Given the description of an element on the screen output the (x, y) to click on. 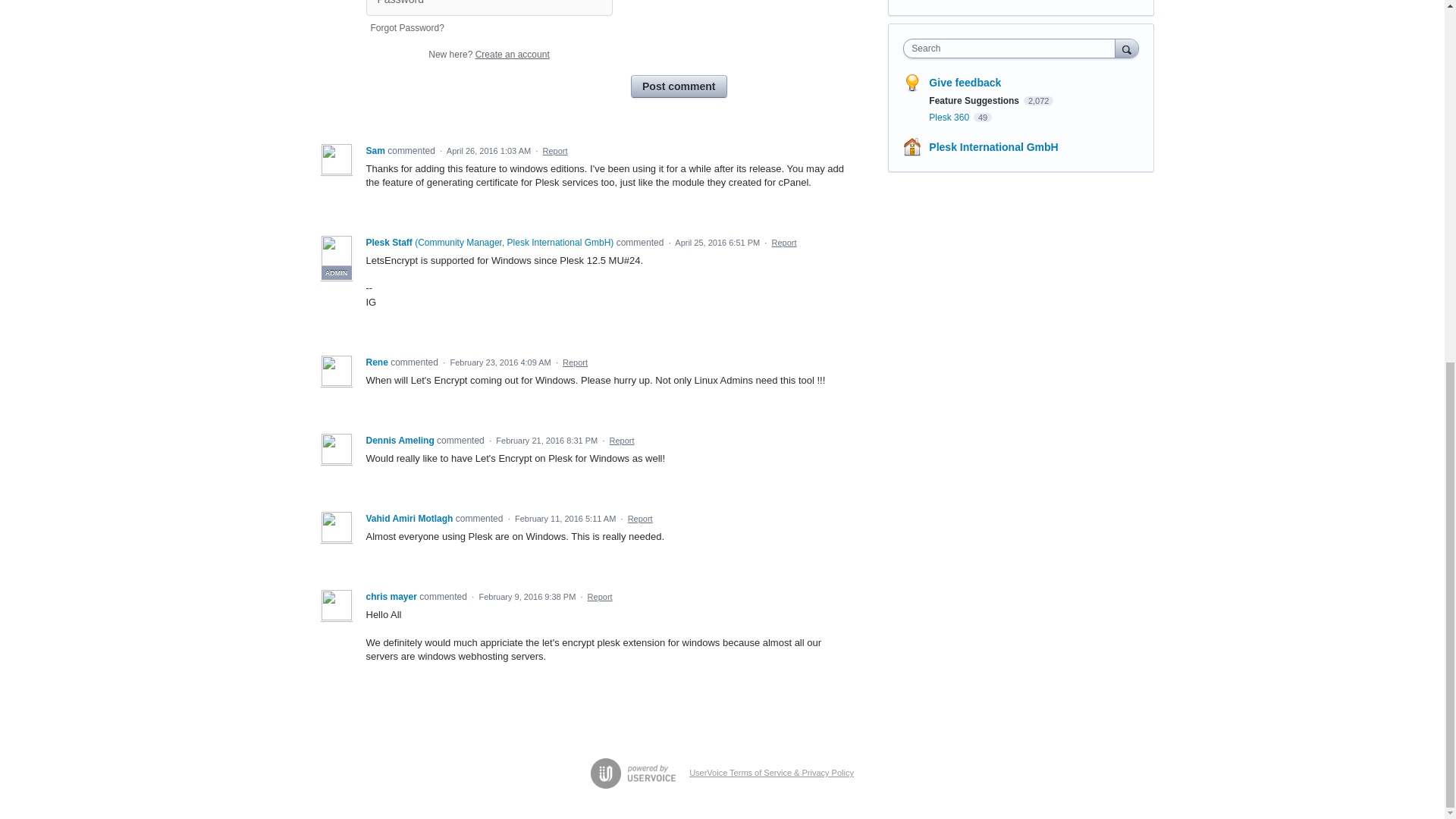
Report (554, 150)
Sam (376, 150)
Post comment (678, 86)
Forgot Password? (406, 28)
New here? Create an account (488, 54)
